Given the description of an element on the screen output the (x, y) to click on. 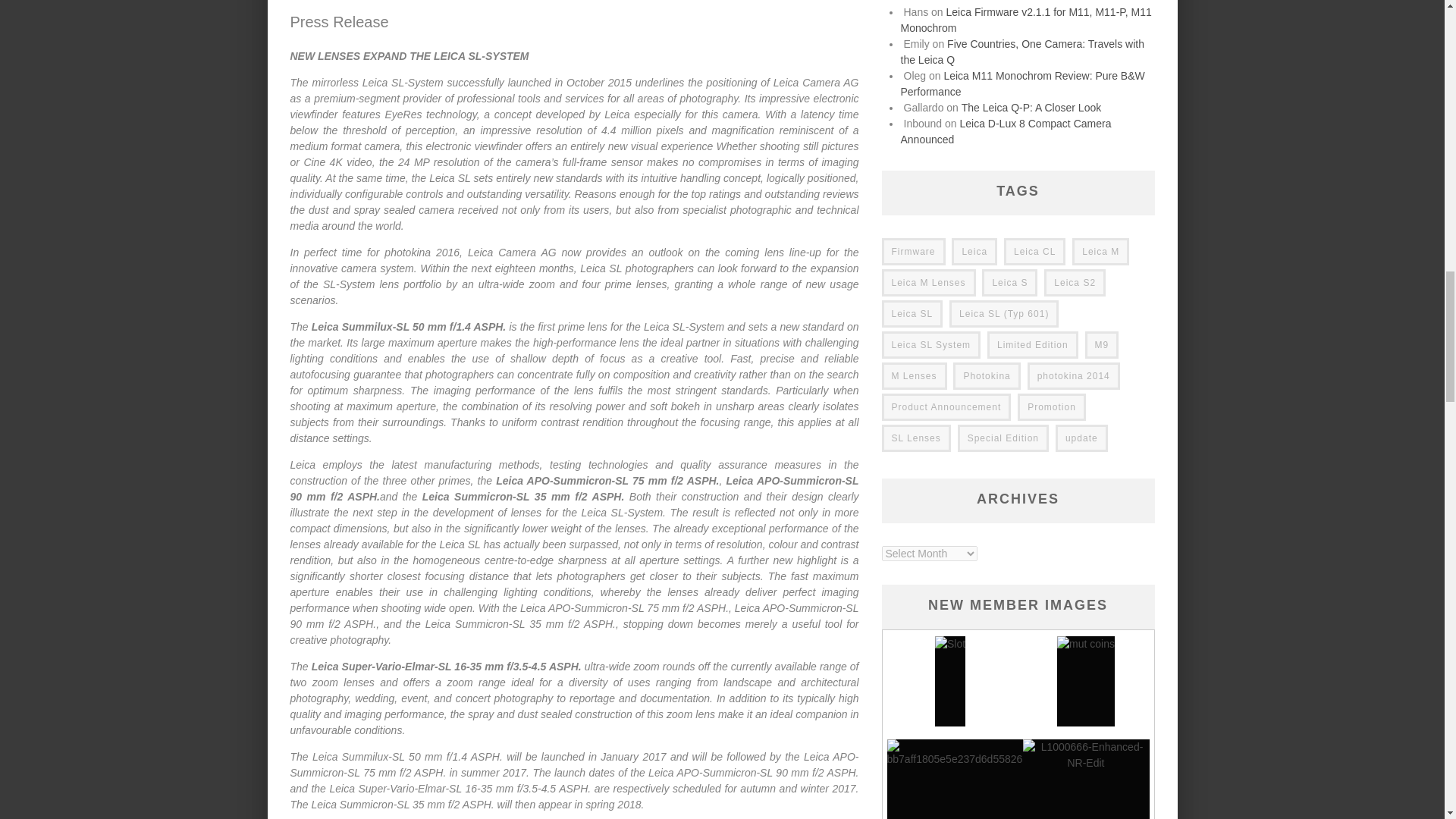
L1000666-Enhanced-NR-Edit (1085, 778)
bb7aff1805e5e237d6d5582650d8ba81 (978, 778)
